Given the description of an element on the screen output the (x, y) to click on. 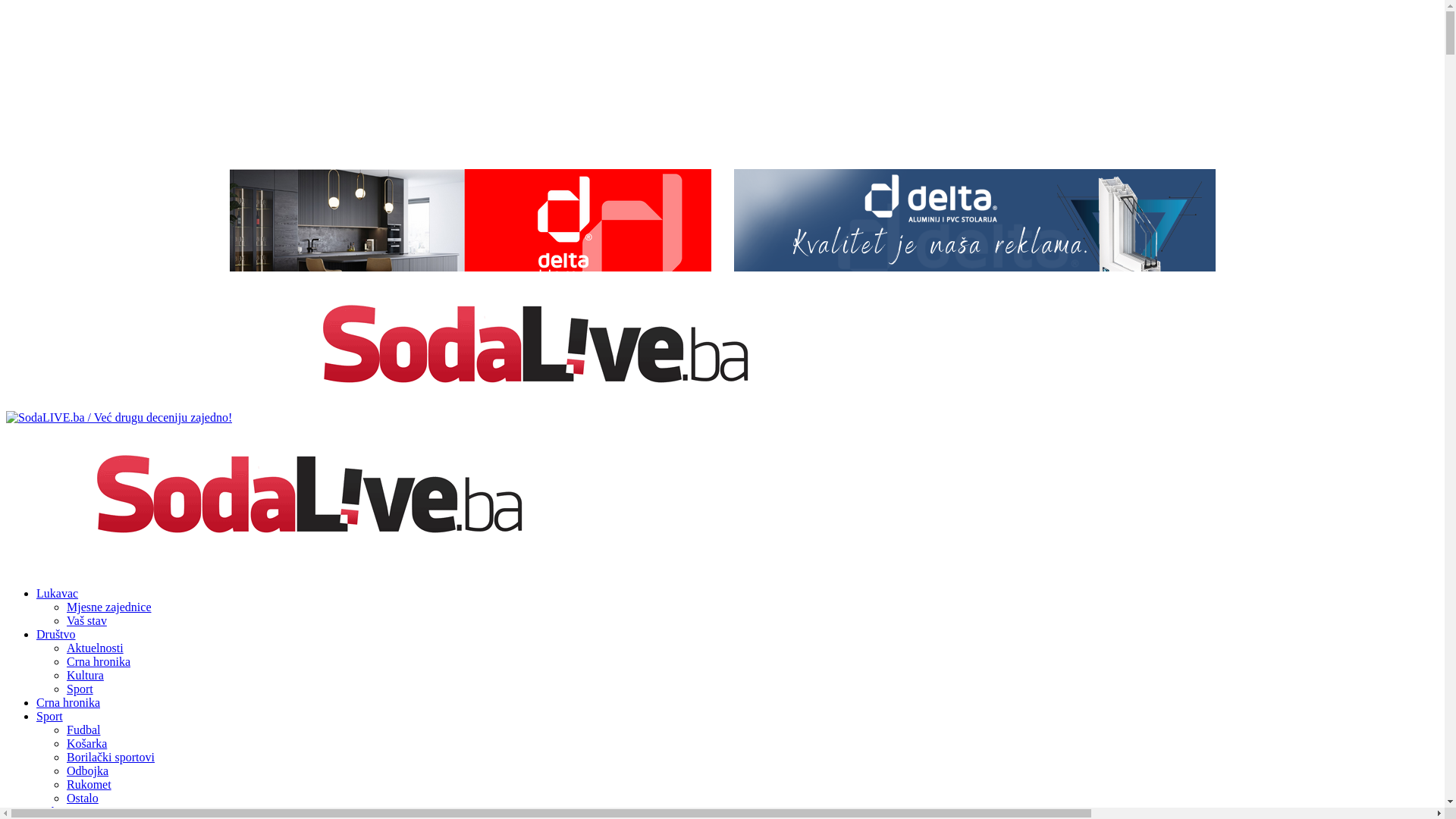
Sport Element type: text (79, 688)
Mjesne zajednice Element type: text (108, 606)
Kultura Element type: text (84, 674)
Ostalo Element type: text (82, 797)
Rukomet Element type: text (88, 784)
Odbojka Element type: text (87, 770)
Lukavac Element type: text (57, 592)
Crna hronika Element type: text (98, 661)
Fudbal Element type: text (83, 729)
Sport Element type: text (49, 715)
Kultura Element type: text (54, 811)
Advertisement Element type: hover (721, 81)
Crna hronika Element type: text (68, 702)
Aktuelnosti Element type: text (94, 647)
